Given the description of an element on the screen output the (x, y) to click on. 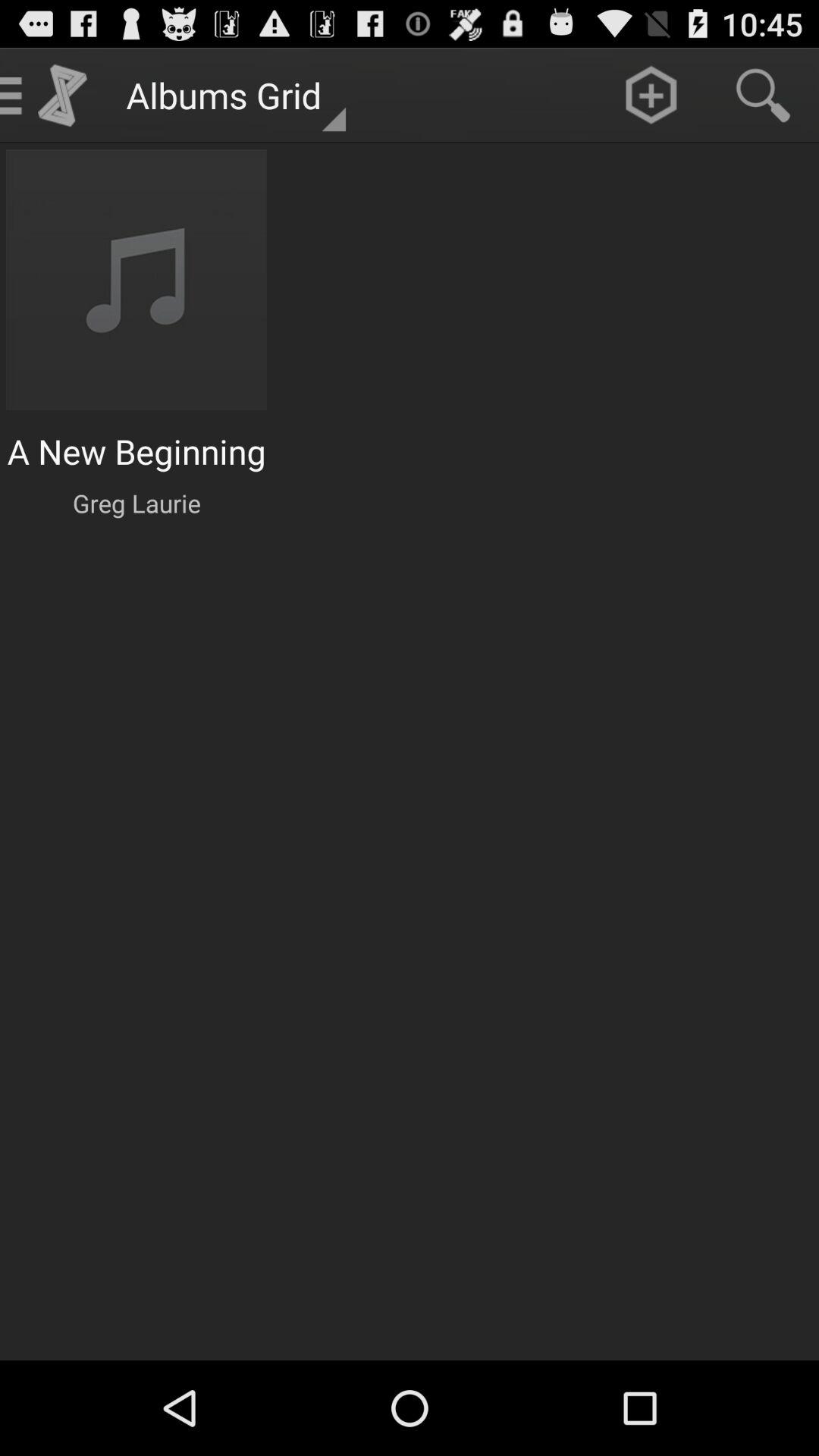
search (763, 95)
